Given the description of an element on the screen output the (x, y) to click on. 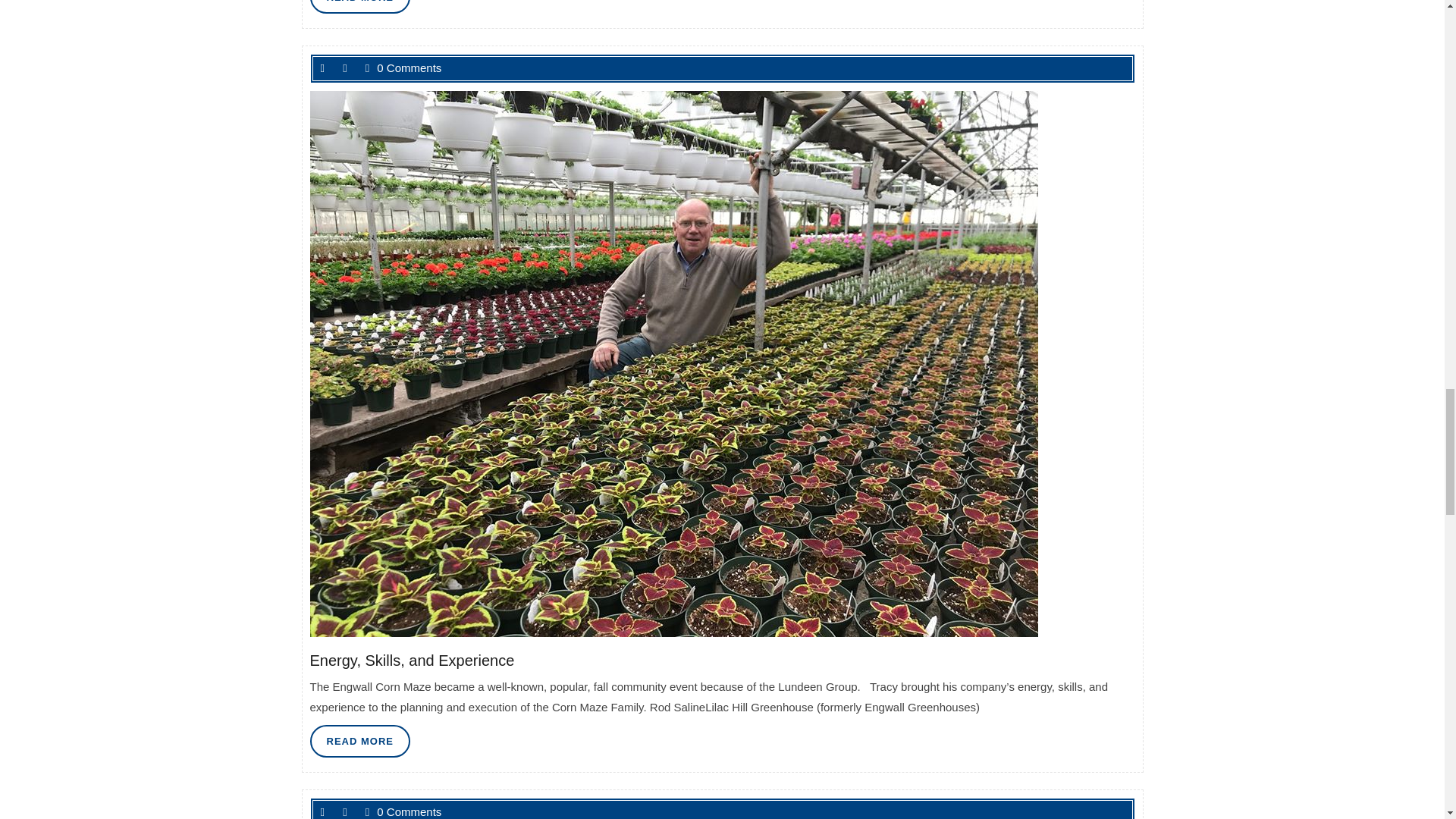
READ MORE (358, 6)
READ MORE (358, 6)
